Given the description of an element on the screen output the (x, y) to click on. 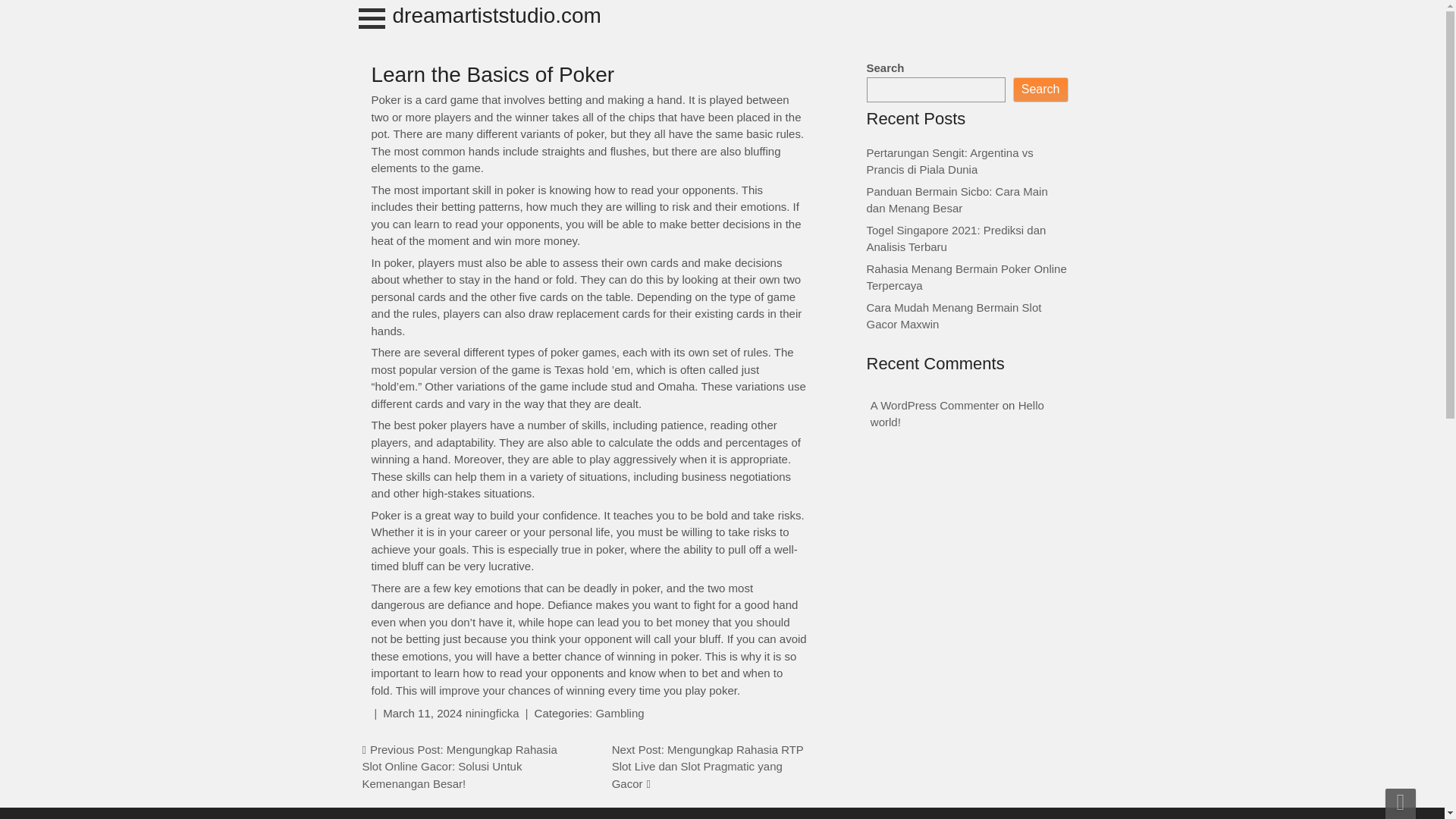
Cara Mudah Menang Bermain Slot Gacor Maxwin (953, 315)
niningficka (492, 712)
A WordPress Commenter (934, 404)
Search (1040, 89)
Panduan Bermain Sicbo: Cara Main dan Menang Besar (956, 200)
Posts by niningficka (492, 712)
Togel Singapore 2021: Prediksi dan Analisis Terbaru (955, 237)
Gambling (619, 712)
Pertarungan Sengit: Argentina vs Prancis di Piala Dunia (949, 160)
dreamartiststudio.com (497, 15)
Hello world! (956, 413)
Sample Page (3, 16)
Rahasia Menang Bermain Poker Online Terpercaya (965, 277)
